Given the description of an element on the screen output the (x, y) to click on. 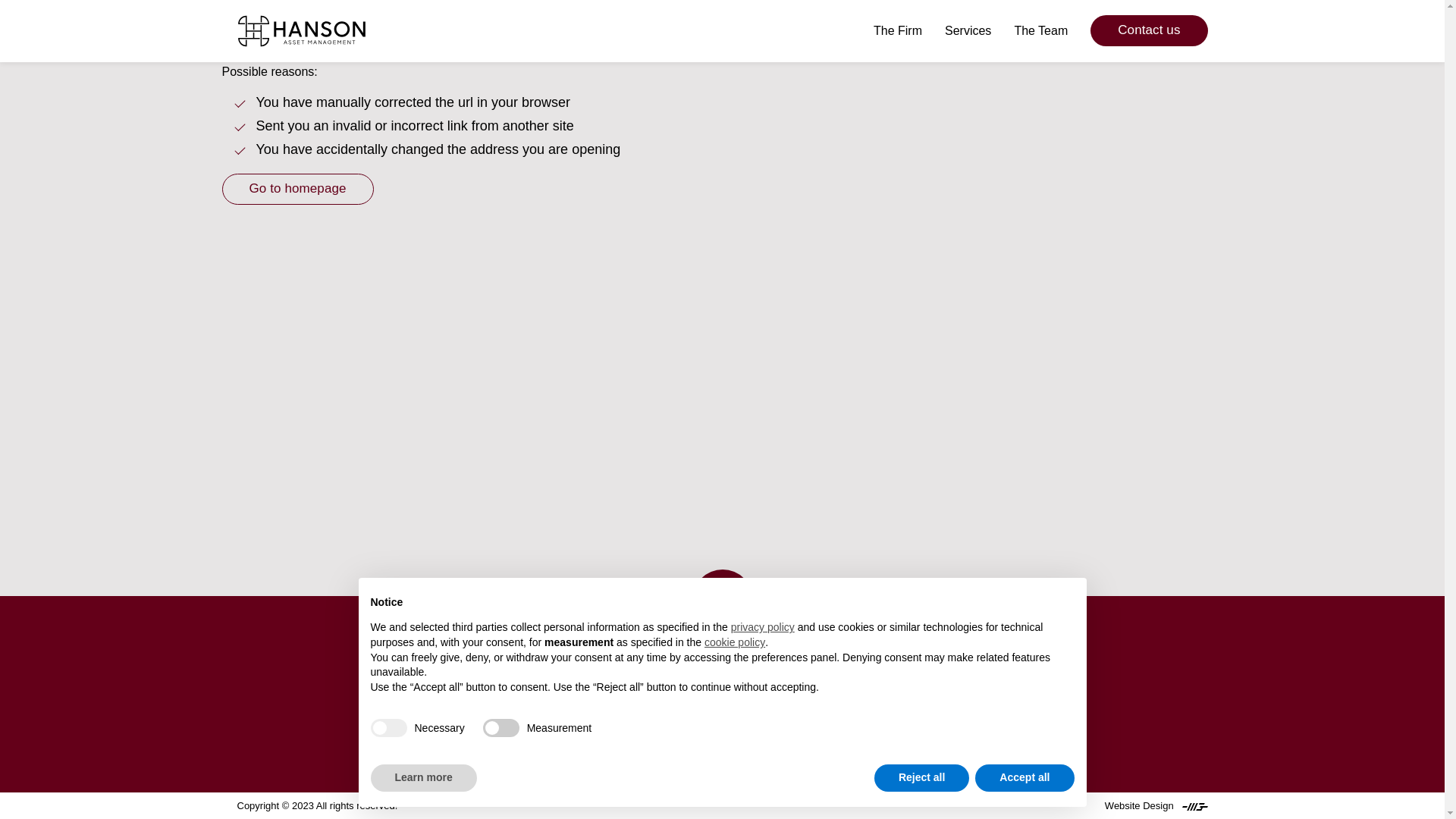
Contact us (1148, 30)
Go to homepage (296, 188)
privacy policy (762, 627)
Learn more (422, 777)
cookie policy (734, 642)
Website Design   (1156, 805)
Reject all (922, 777)
Services (967, 30)
The Team (1040, 30)
false (501, 728)
